Given the description of an element on the screen output the (x, y) to click on. 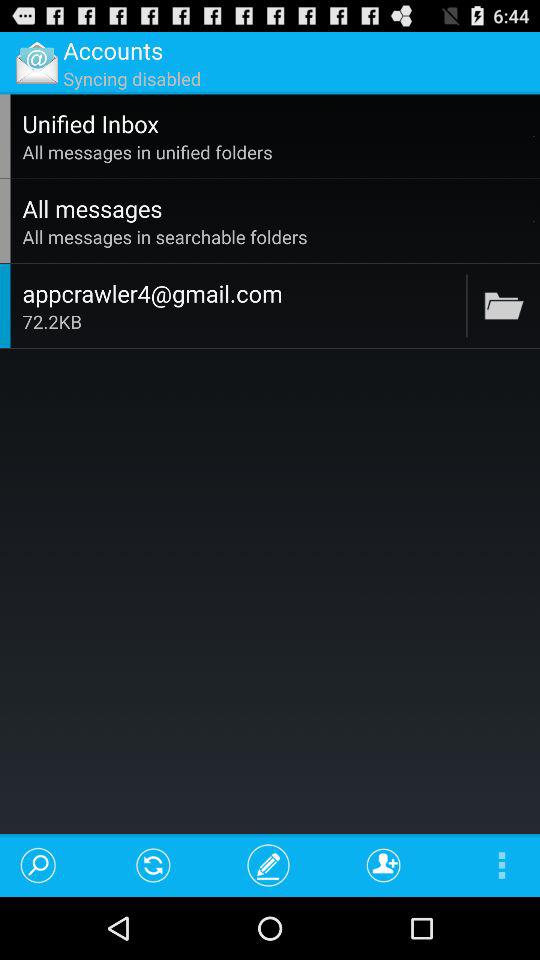
turn off item at the center (241, 321)
